Given the description of an element on the screen output the (x, y) to click on. 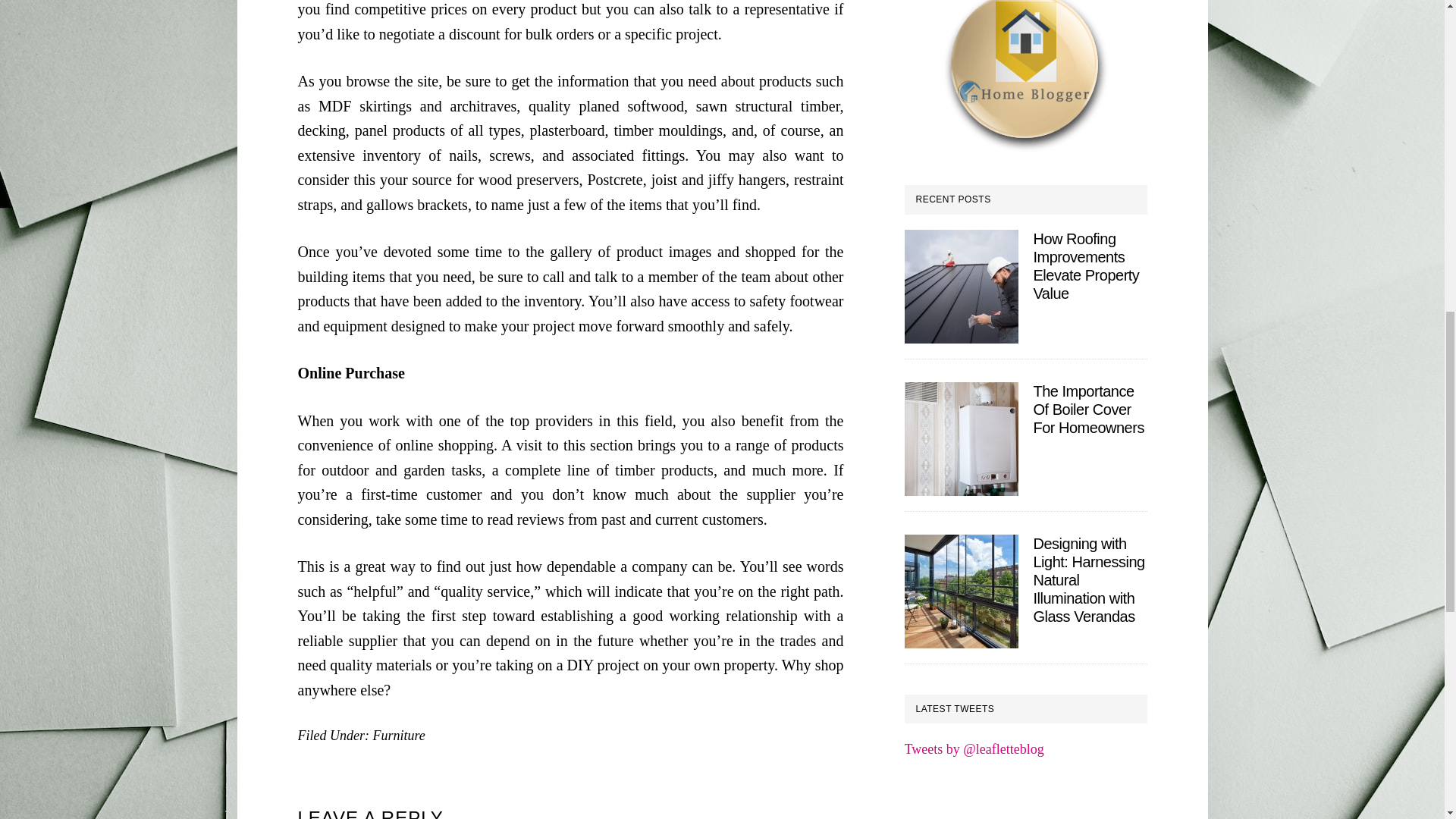
The Importance Of Boiler Cover For Homeowners (1087, 409)
Furniture (398, 735)
How Roofing Improvements Elevate Property Value (1085, 266)
RECENT POSTS (1025, 199)
